Given the description of an element on the screen output the (x, y) to click on. 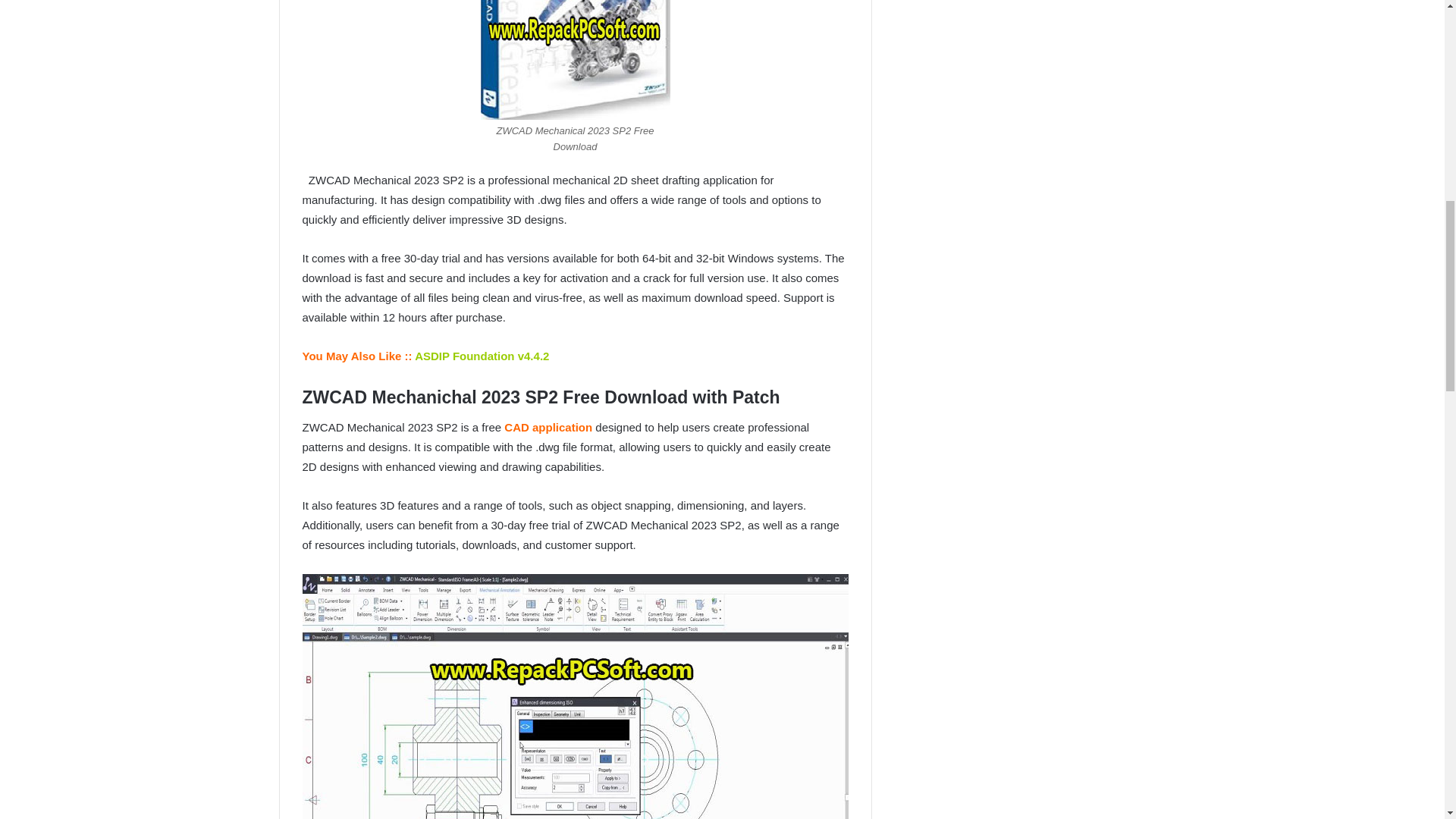
ZWCAD Mechanichal 2023 SP2 Free Download with Patch (574, 696)
ASDIP Foundation v4.4.2 (481, 355)
CAD application (546, 427)
ZWCAD Mechanical 2023 SP2 Free Download (574, 59)
